Given the description of an element on the screen output the (x, y) to click on. 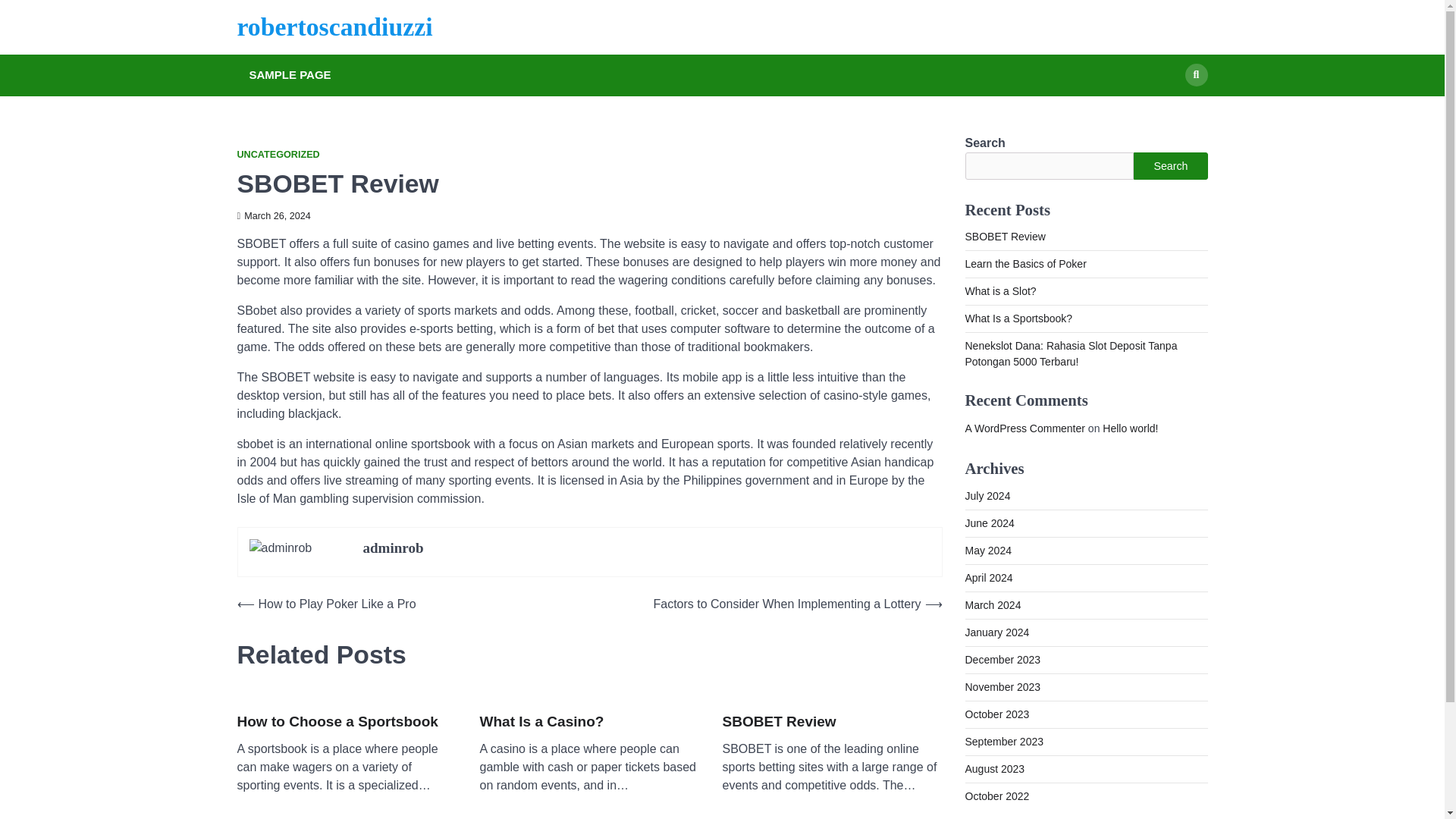
What is a Slot? (999, 291)
November 2023 (1002, 686)
Hello world! (1129, 428)
January 2024 (996, 632)
Search (1170, 165)
A WordPress Commenter (1023, 428)
May 2024 (986, 550)
October 2023 (996, 714)
How to Choose a Sportsbook (336, 722)
Search (1196, 74)
August 2023 (994, 768)
October 2022 (996, 796)
September 2023 (1003, 741)
SAMPLE PAGE (289, 75)
What Is a Sportsbook? (1017, 318)
